Given the description of an element on the screen output the (x, y) to click on. 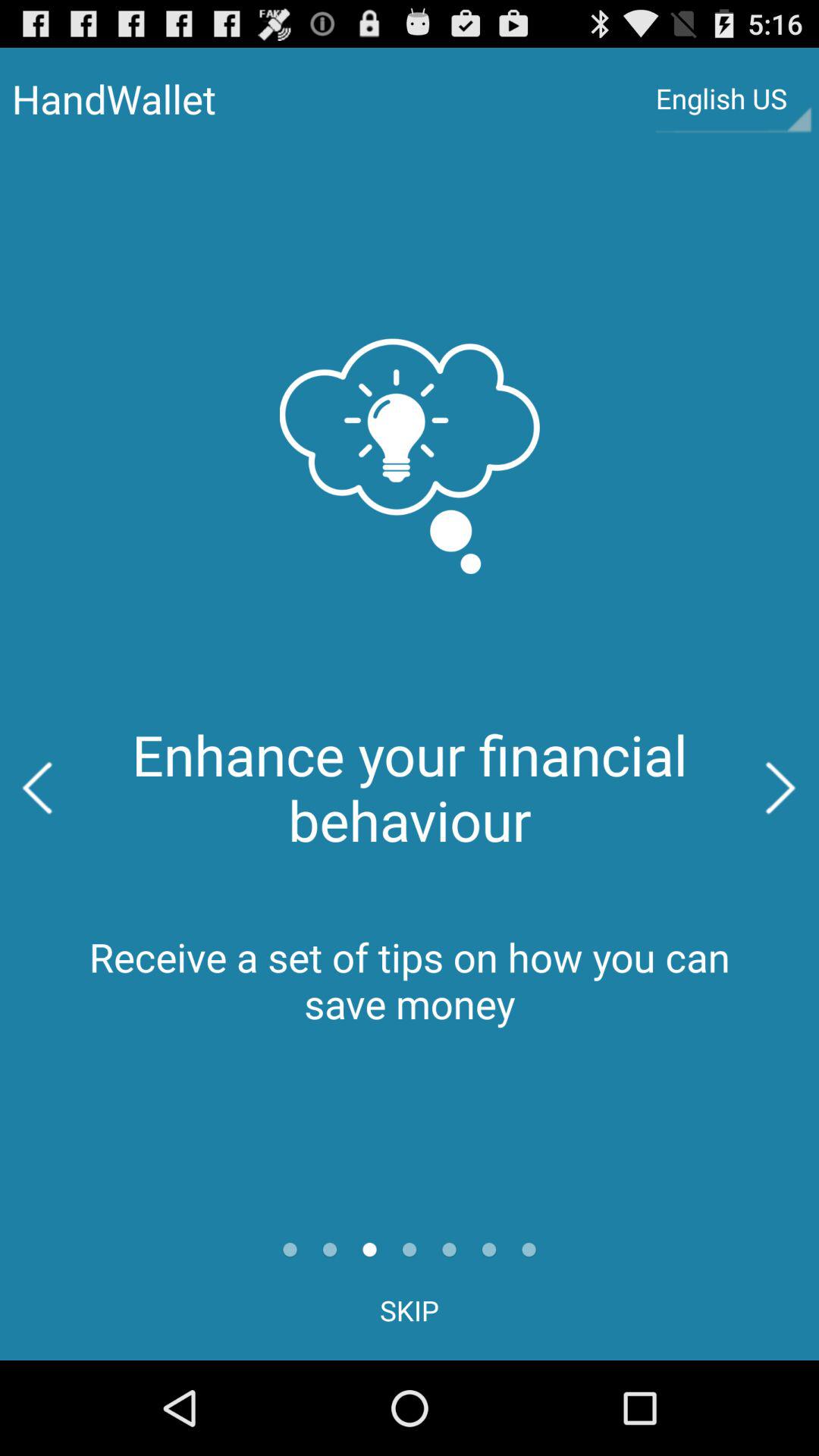
go to next (781, 787)
